Given the description of an element on the screen output the (x, y) to click on. 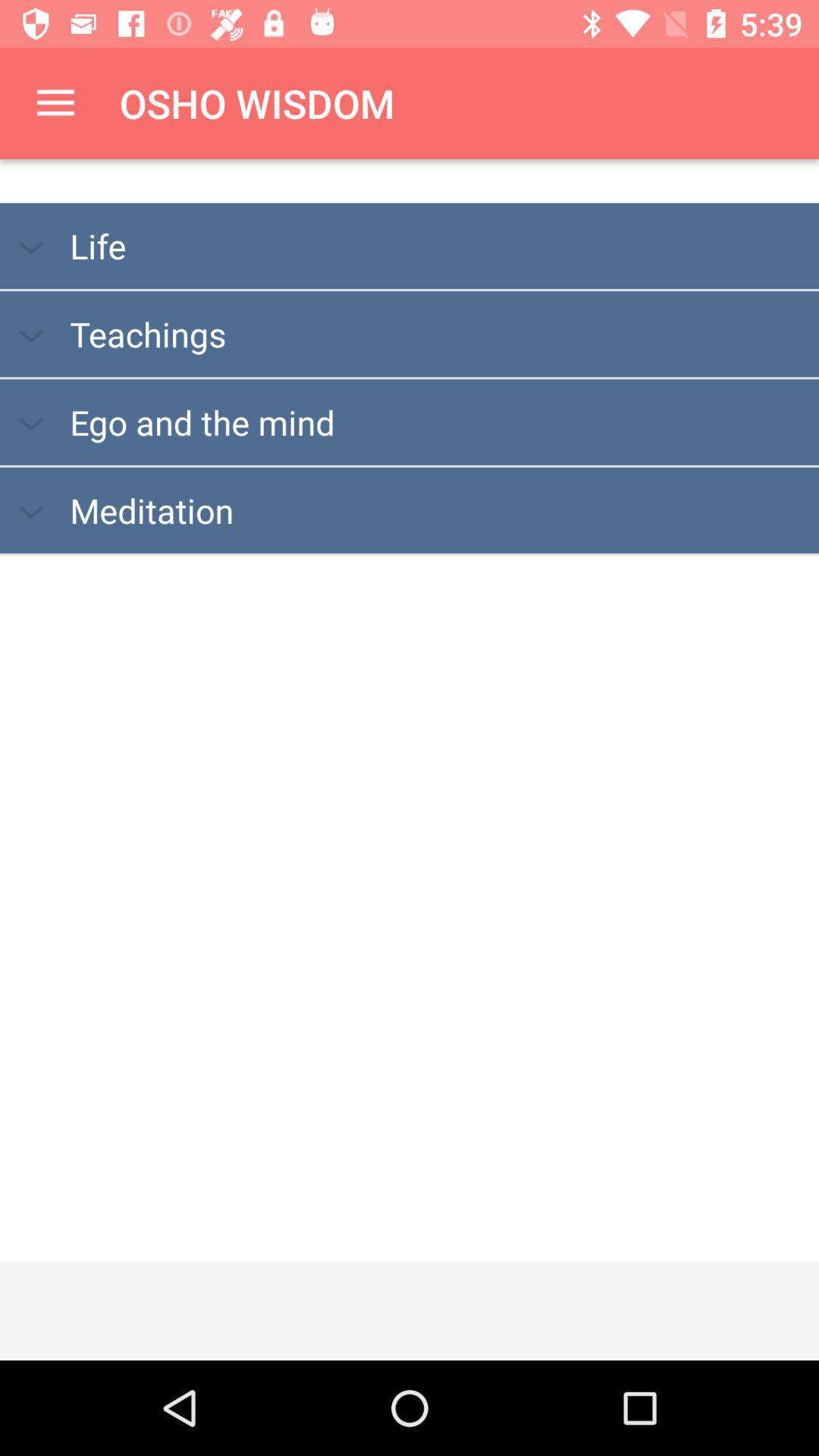
press the item to the left of the osho wisdom icon (55, 103)
